Given the description of an element on the screen output the (x, y) to click on. 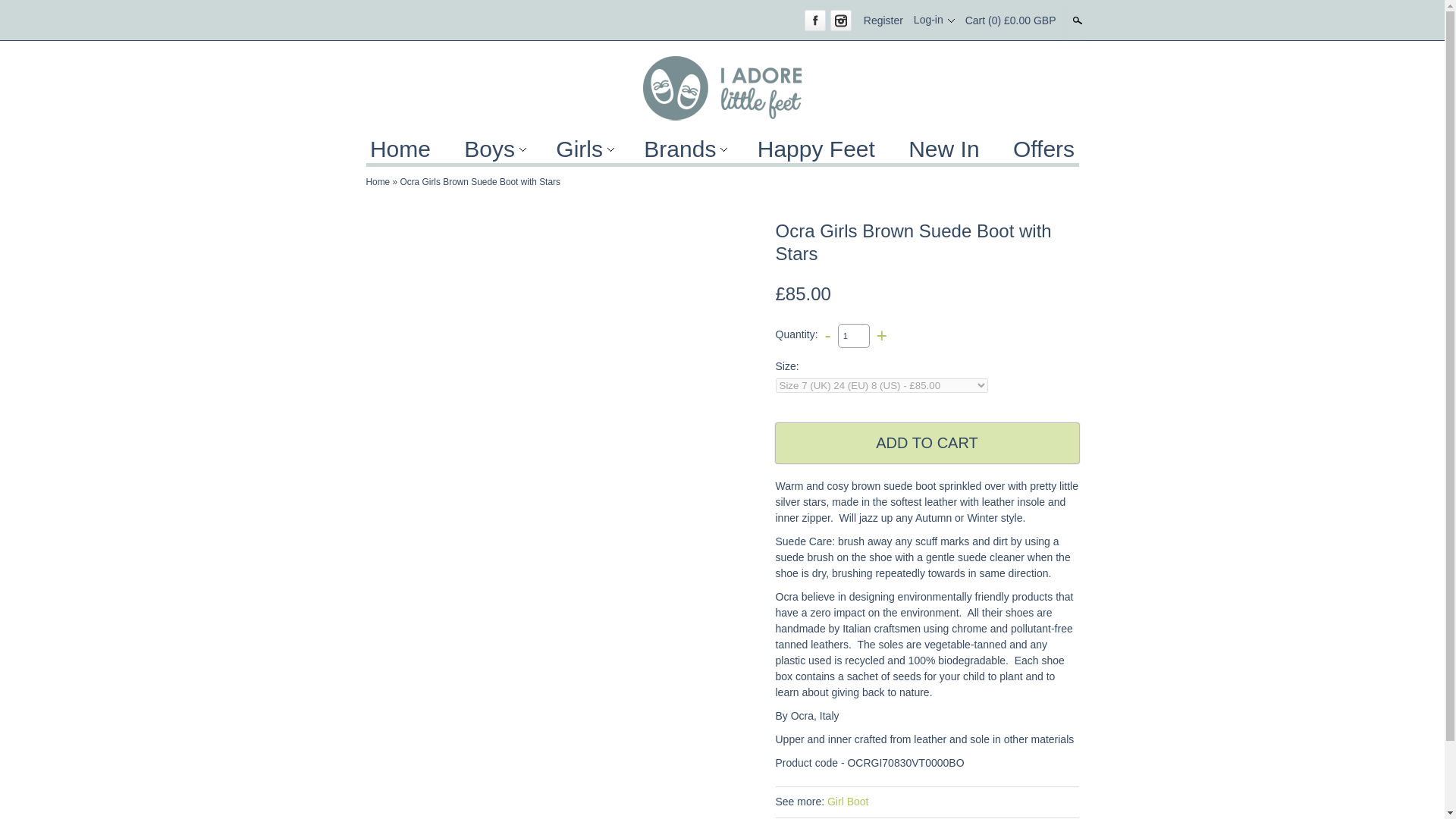
Brands (683, 148)
Facebook (815, 20)
Add to cart (926, 443)
Girls (582, 148)
Instagram (840, 20)
Home (399, 148)
I Adore Little Feet (722, 88)
Home (377, 181)
Follow us on Facebook (815, 20)
Girl Boot (847, 801)
Follow us on Instagram (840, 20)
Boys (492, 148)
Register (882, 20)
Log-in (934, 19)
1 (853, 334)
